Given the description of an element on the screen output the (x, y) to click on. 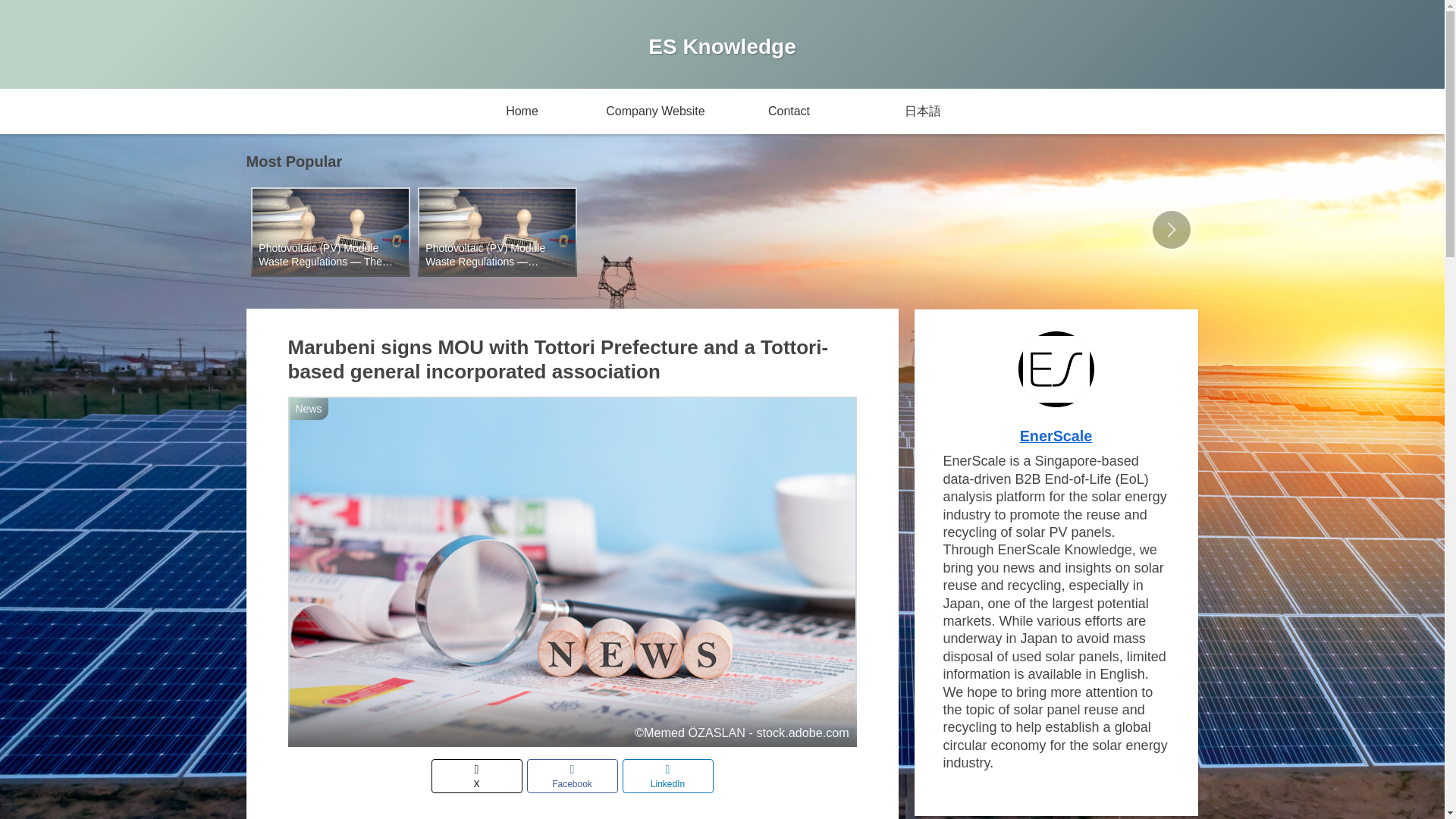
Contact (789, 111)
EnerScale (1056, 435)
Home (521, 111)
LinkedIn (667, 776)
Facebook (571, 776)
X (475, 776)
Company Website (655, 111)
ES Knowledge (721, 48)
